Given the description of an element on the screen output the (x, y) to click on. 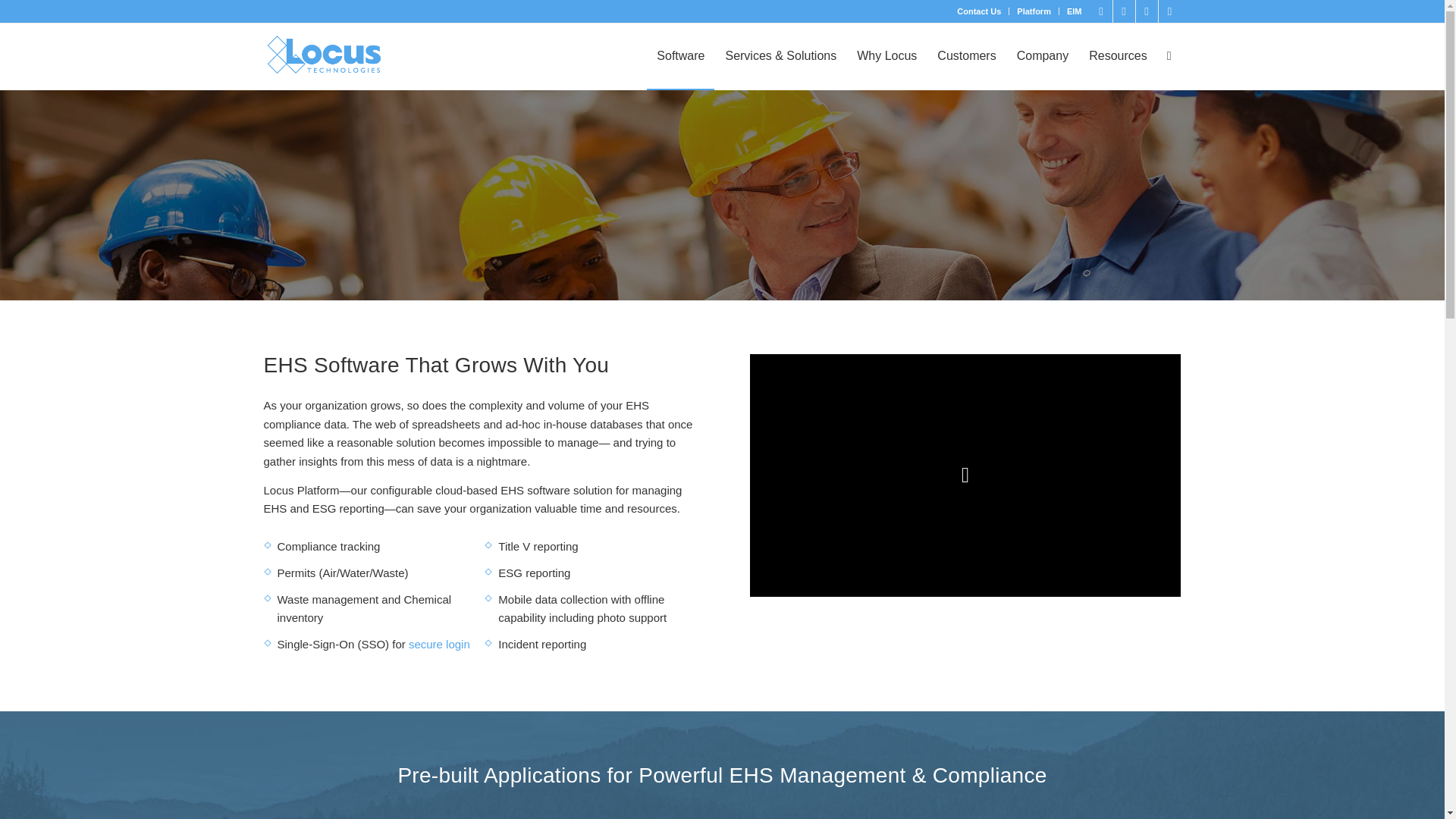
Facebook (1124, 11)
Software (680, 55)
Contact Us (978, 11)
LinkedIn (1101, 11)
Twitter (1146, 11)
Customers (966, 55)
Why Locus (885, 55)
Youtube (1169, 11)
Platform (1033, 11)
